Given the description of an element on the screen output the (x, y) to click on. 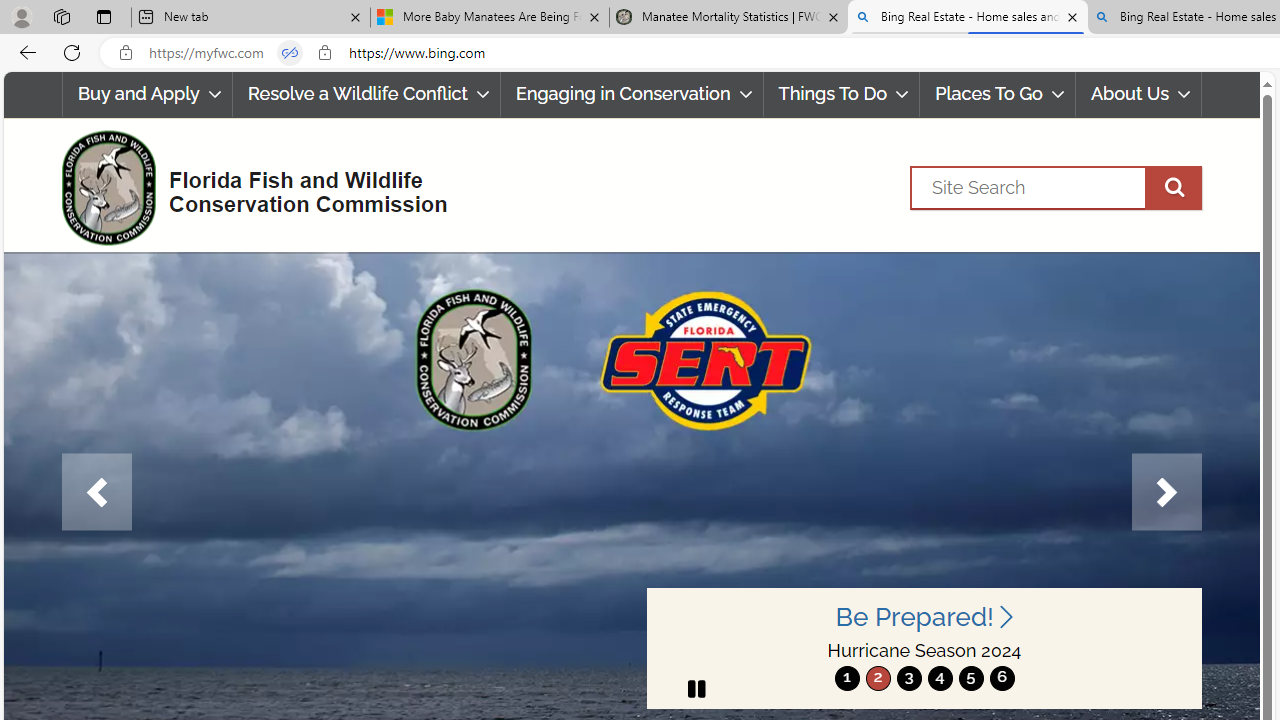
execute site search (1173, 187)
Things To Do (841, 94)
move to slide 5 (970, 678)
Things To Do (841, 94)
move to slide 4 (939, 678)
FWC Logo (108, 187)
Places To Go (997, 94)
slider pause button (696, 688)
Buy and Apply (146, 94)
Bing Real Estate - Home sales and rental listings (967, 17)
